Given the description of an element on the screen output the (x, y) to click on. 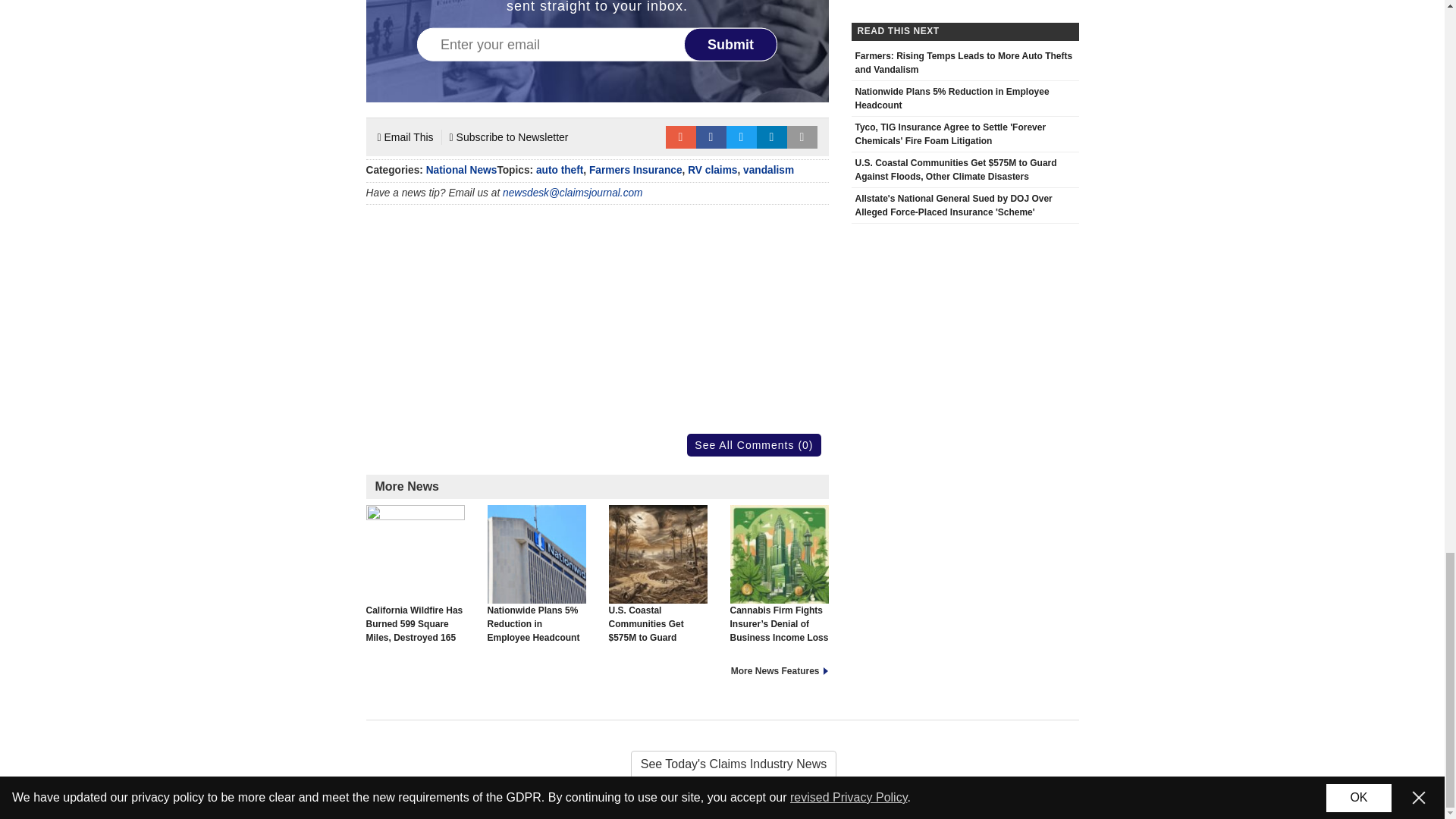
See Today's Claims Industry News (721, 764)
Email This (405, 137)
See Today's Claims Industry News (721, 764)
Share on Twitter. (741, 137)
Submit (730, 43)
Print Article (801, 137)
Post to Facebook. (710, 137)
Email to a friend (680, 137)
Share on LinkedIn. (772, 137)
